Given the description of an element on the screen output the (x, y) to click on. 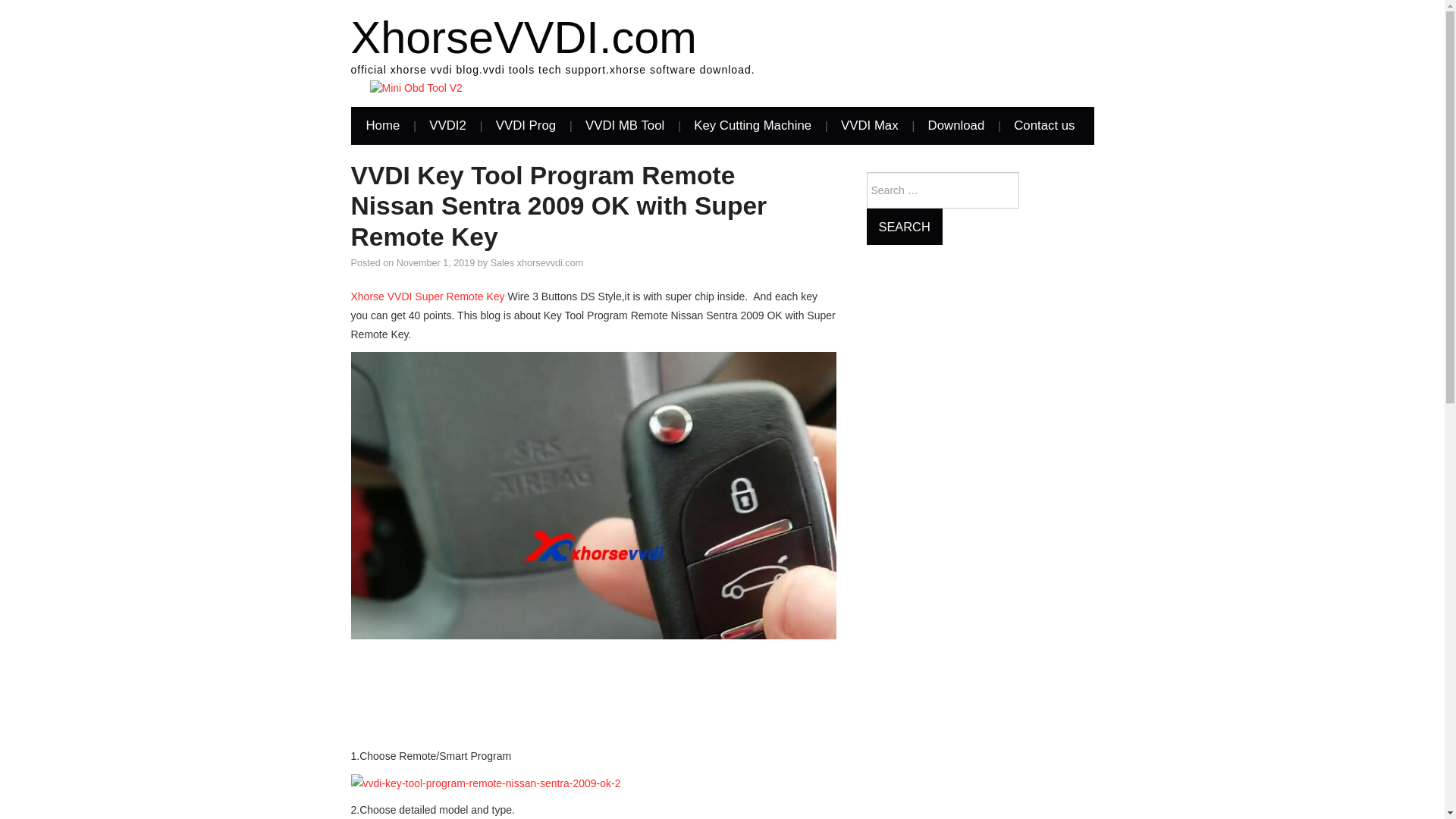
VVDI2 (447, 125)
Download (956, 125)
vvdi-key-tool-program-remote-nissan-sentra-2009-ok-2  (485, 783)
Search (904, 226)
Contact us (1043, 125)
VVDI MB Tool (624, 125)
View all posts by Sales xhorsevvdi.com (536, 262)
Key Cutting Machine (752, 125)
Mini Obd Tool V2 (416, 87)
November 1, 2019 (436, 262)
